Given the description of an element on the screen output the (x, y) to click on. 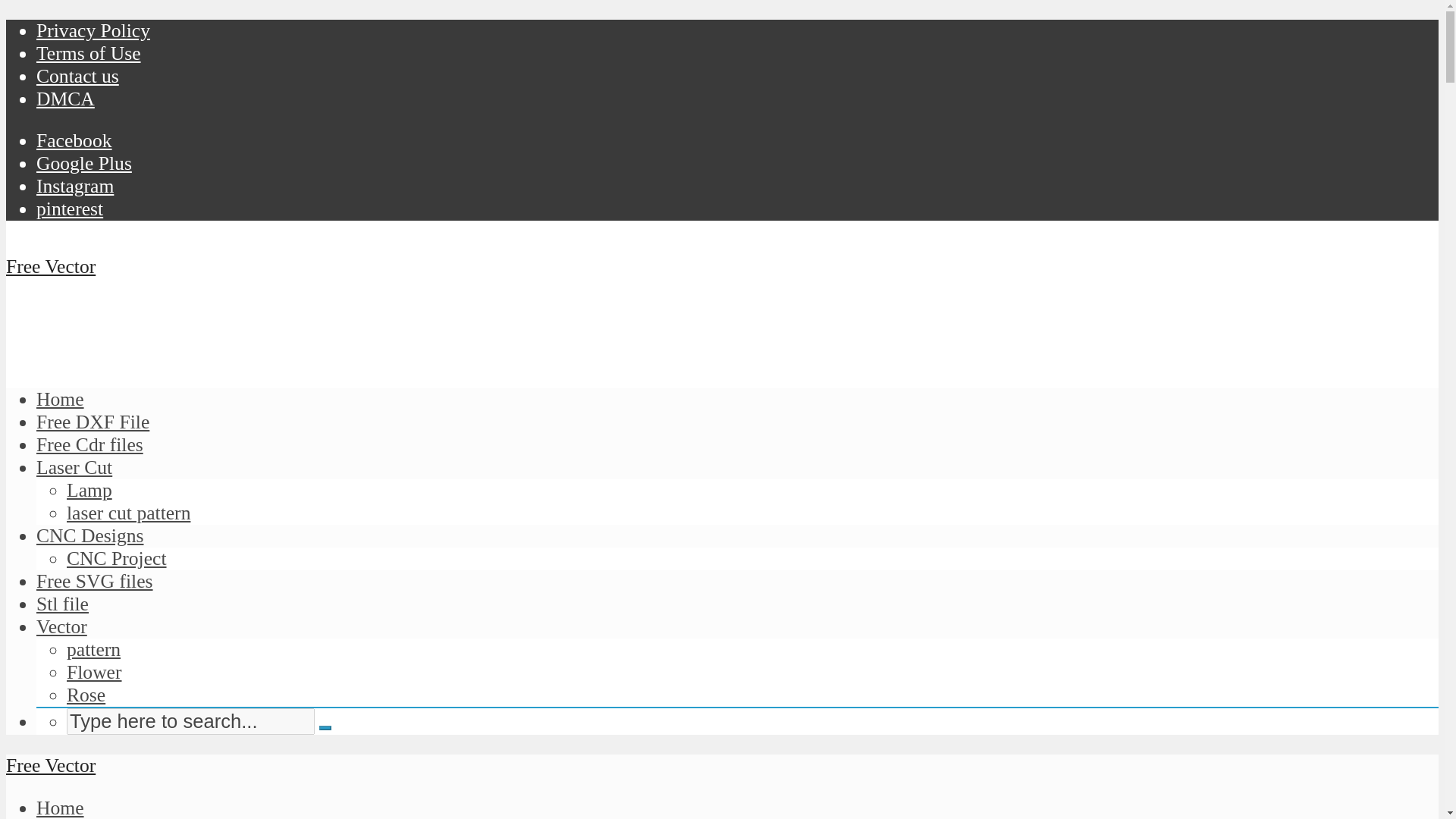
Rose (85, 694)
CNC Designs (90, 535)
Free Cdr files (89, 444)
Flower (94, 671)
laser cut pattern (128, 513)
Terms of Use (88, 53)
Free Vector (50, 266)
Type here to search... (190, 721)
Home (60, 399)
Free DXF File (92, 422)
